Given the description of an element on the screen output the (x, y) to click on. 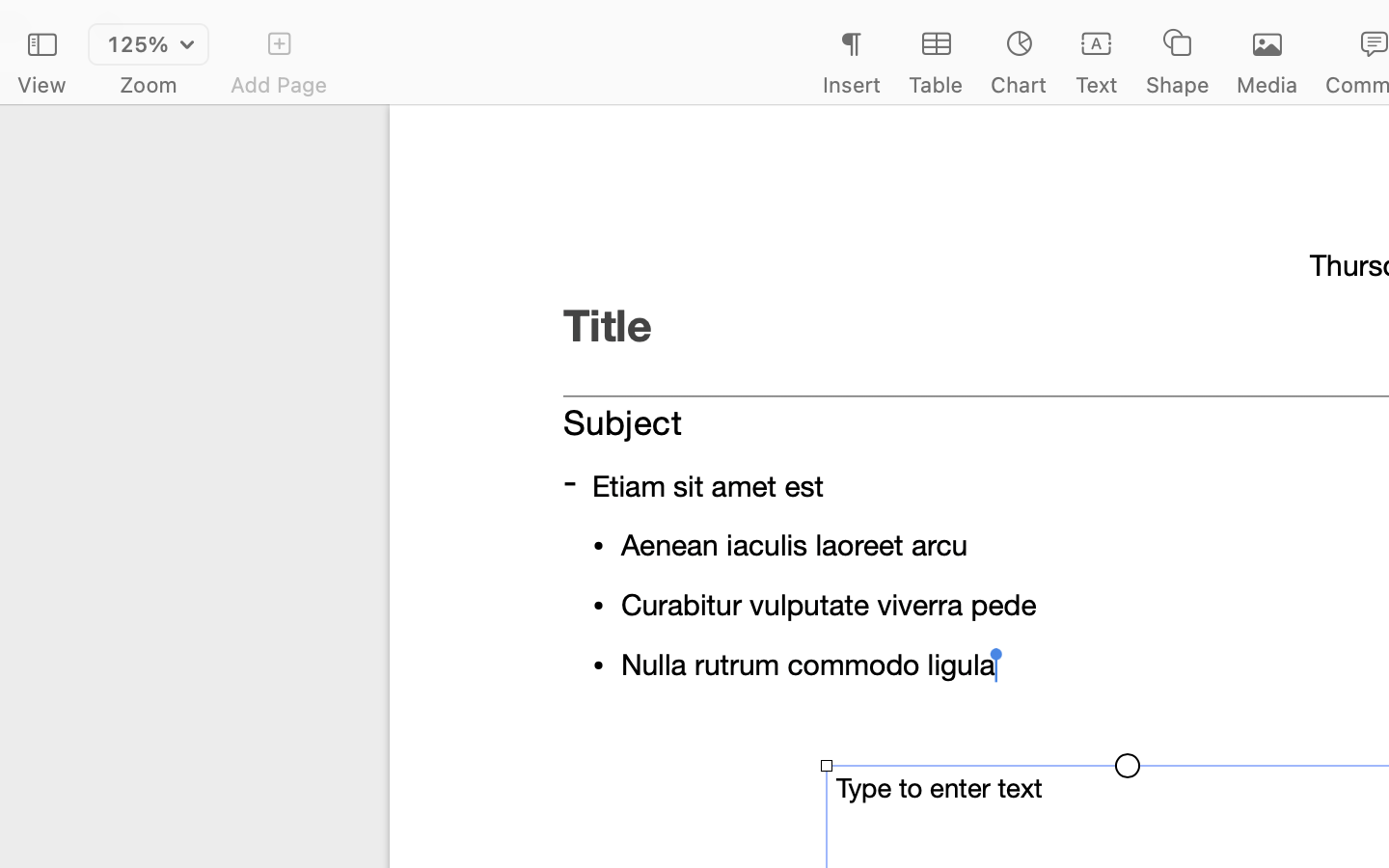
Learn More Element type: AXStaticText (1126, 618)
Zoom Element type: AXStaticText (148, 84)
Insert Element type: AXStaticText (850, 84)
View Element type: AXStaticText (41, 84)
Click to link text boxes together. Element type: AXStaticText (1126, 568)
